Given the description of an element on the screen output the (x, y) to click on. 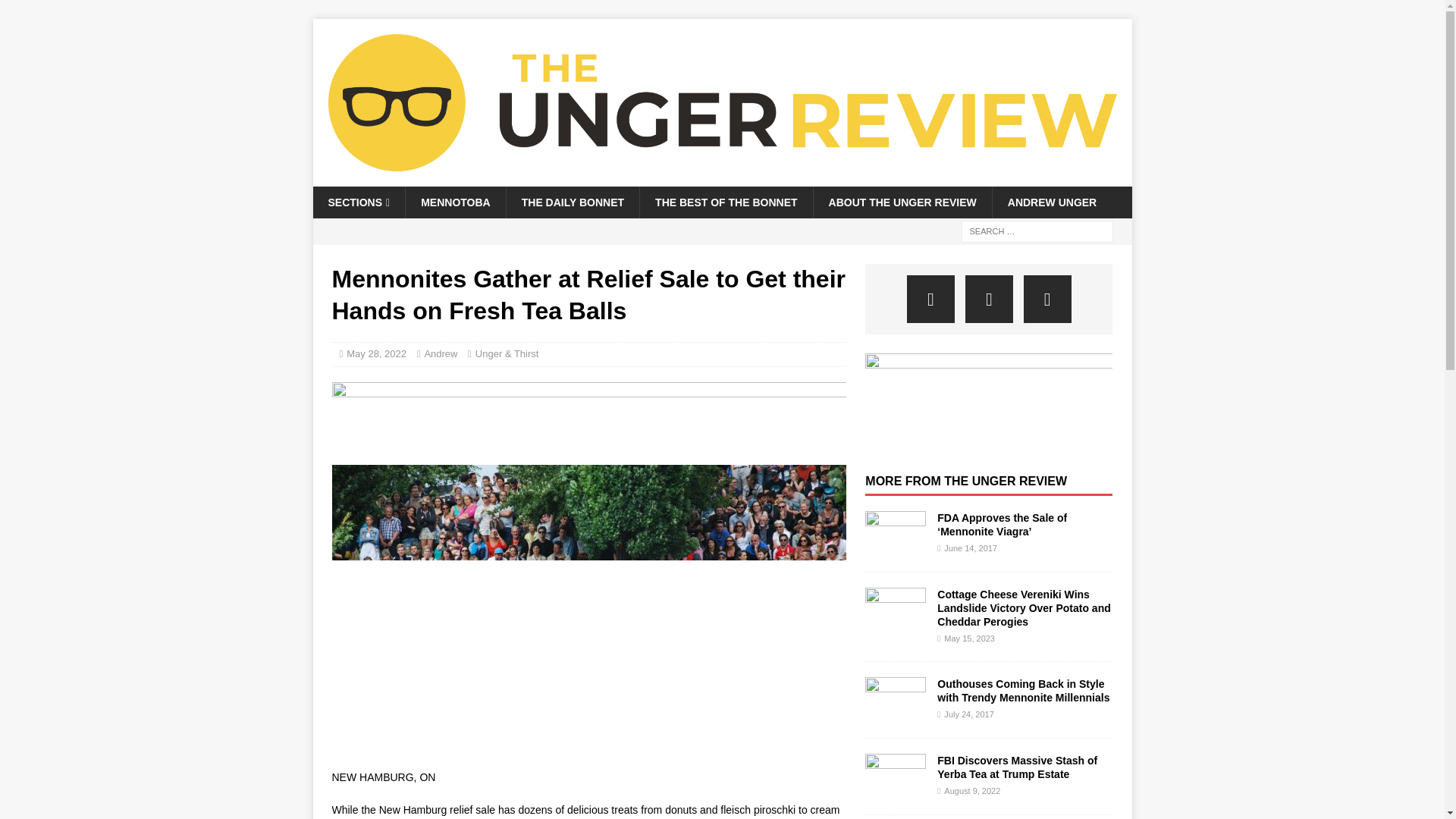
SECTIONS (358, 202)
MENNOTOBA (454, 202)
Search (56, 11)
THE DAILY BONNET (572, 202)
ANDREW UNGER (1051, 202)
THE BEST OF THE BONNET (725, 202)
May 28, 2022 (376, 353)
Andrew (440, 353)
ABOUT THE UNGER REVIEW (901, 202)
